Given the description of an element on the screen output the (x, y) to click on. 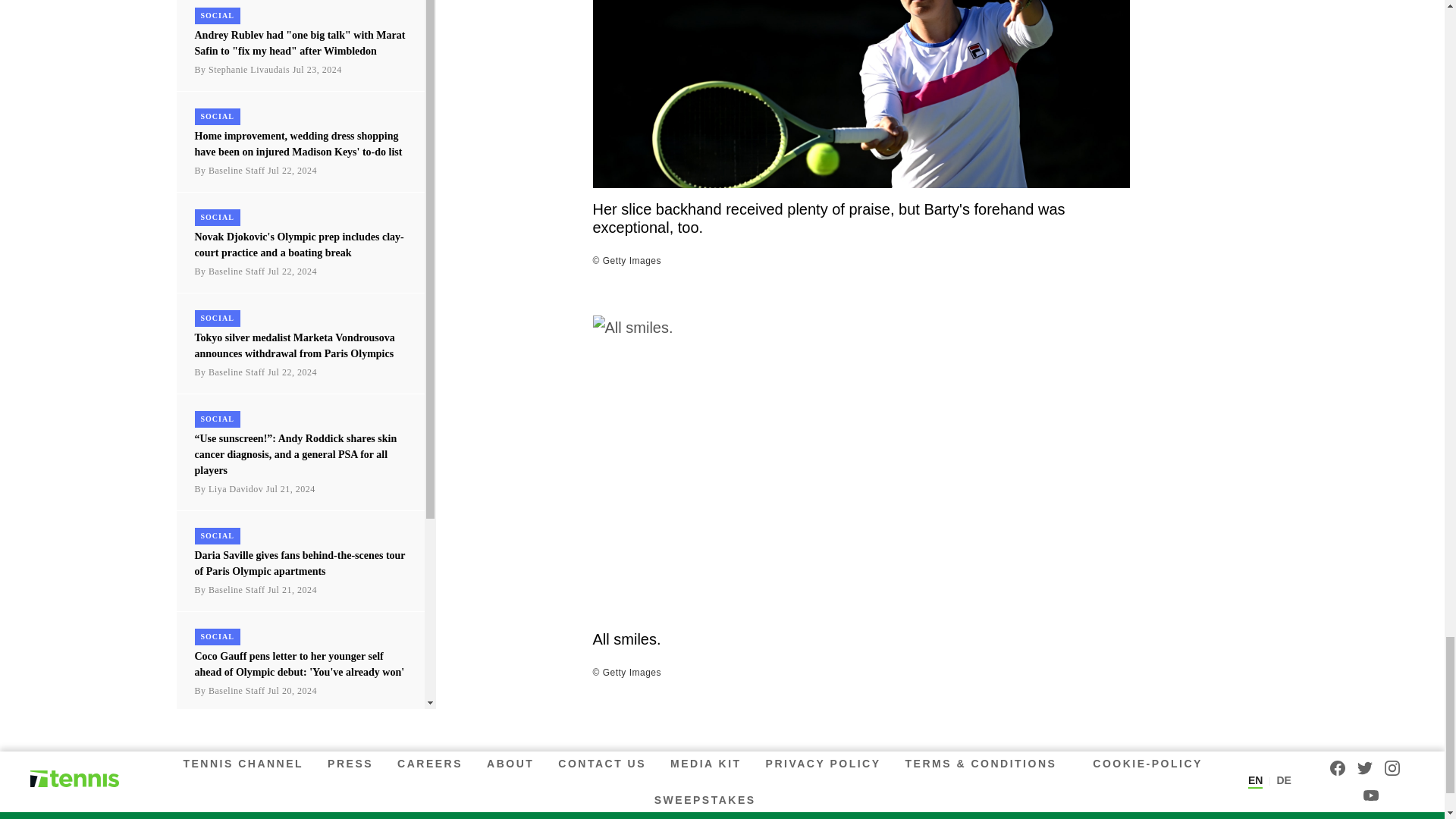
PRESS (349, 763)
instagram (1392, 768)
TENNIS CHANNEL (245, 763)
twitter (1364, 768)
CAREERS (429, 763)
Tennis.com (74, 779)
